Given the description of an element on the screen output the (x, y) to click on. 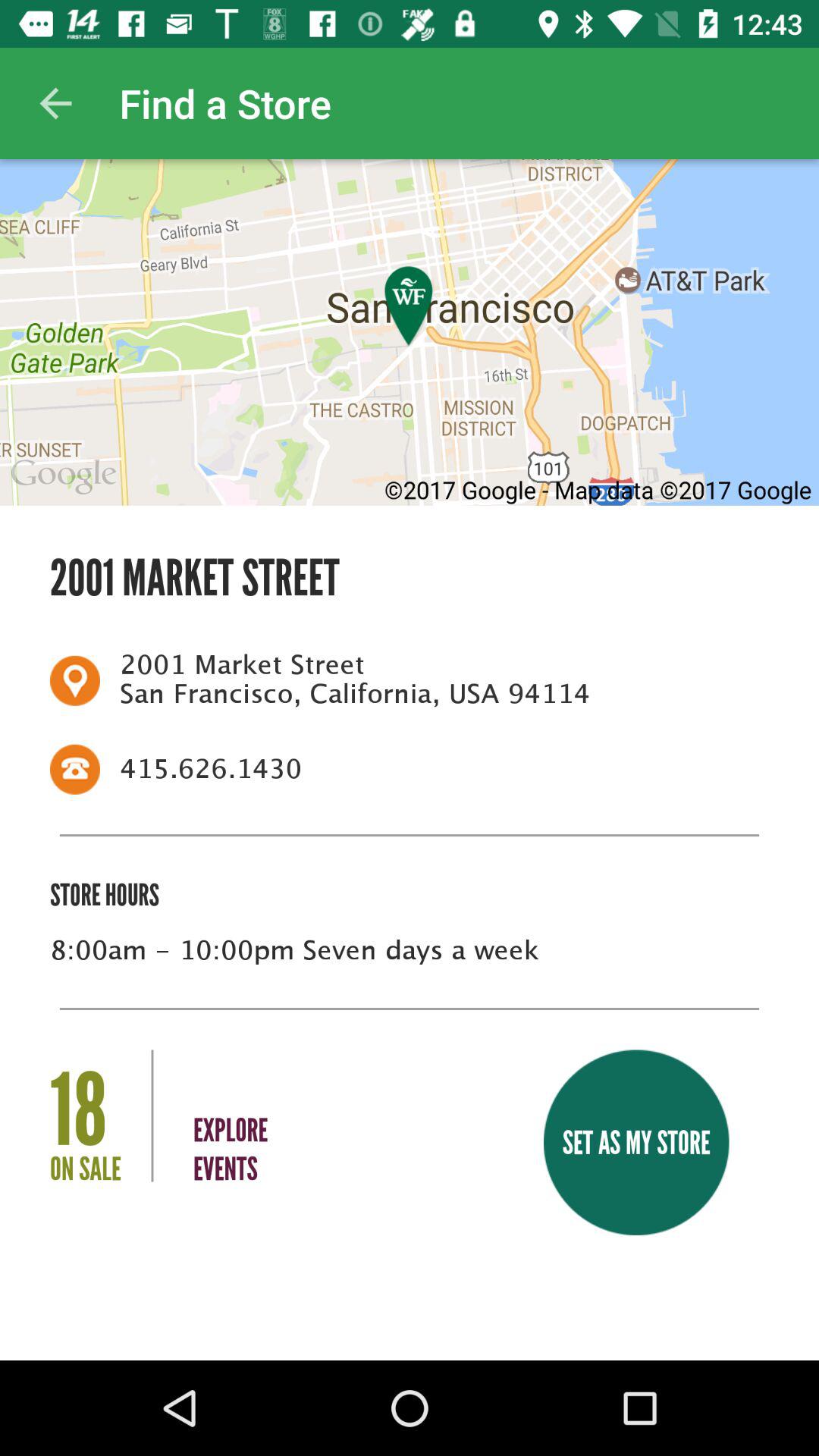
launch the icon below 2001 market street icon (434, 769)
